Given the description of an element on the screen output the (x, y) to click on. 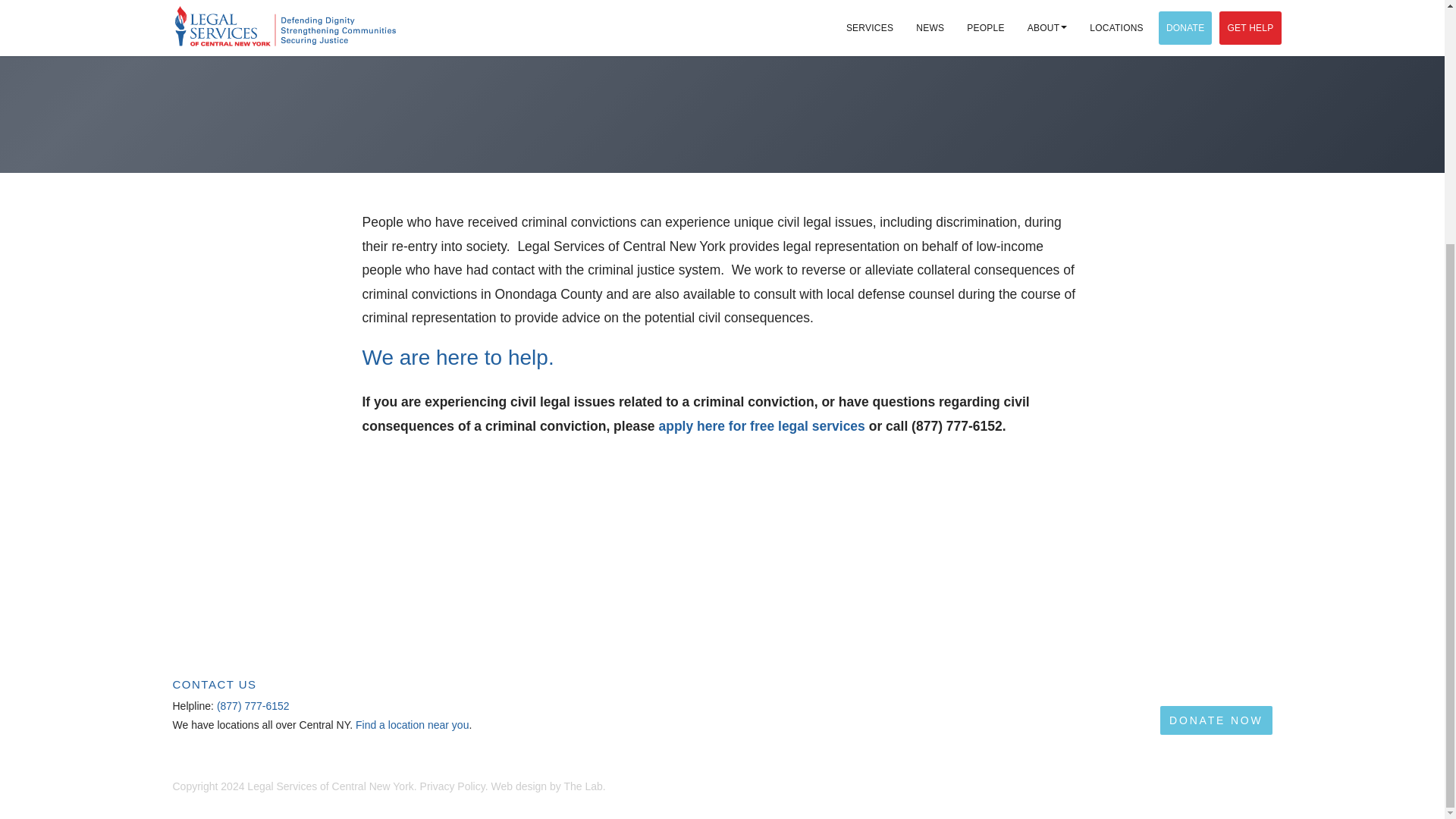
apply here for free legal services (761, 426)
Privacy Policy (452, 786)
Web design by The Lab (546, 786)
DONATE NOW (1215, 719)
Find a location near you (411, 725)
